Given the description of an element on the screen output the (x, y) to click on. 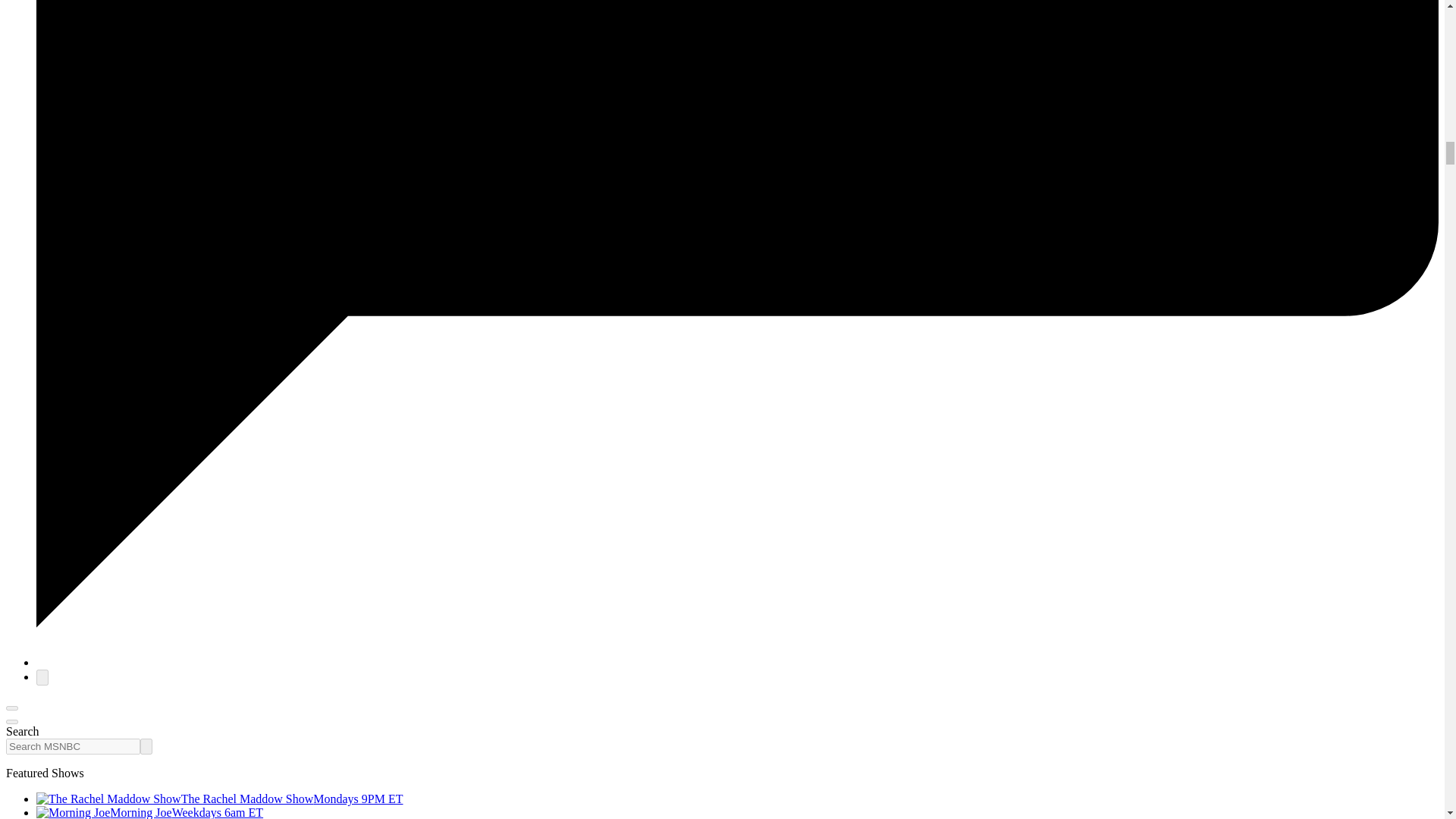
The Rachel Maddow ShowMondays 9PM ET (219, 798)
Morning JoeWeekdays 6am ET (149, 812)
